Given the description of an element on the screen output the (x, y) to click on. 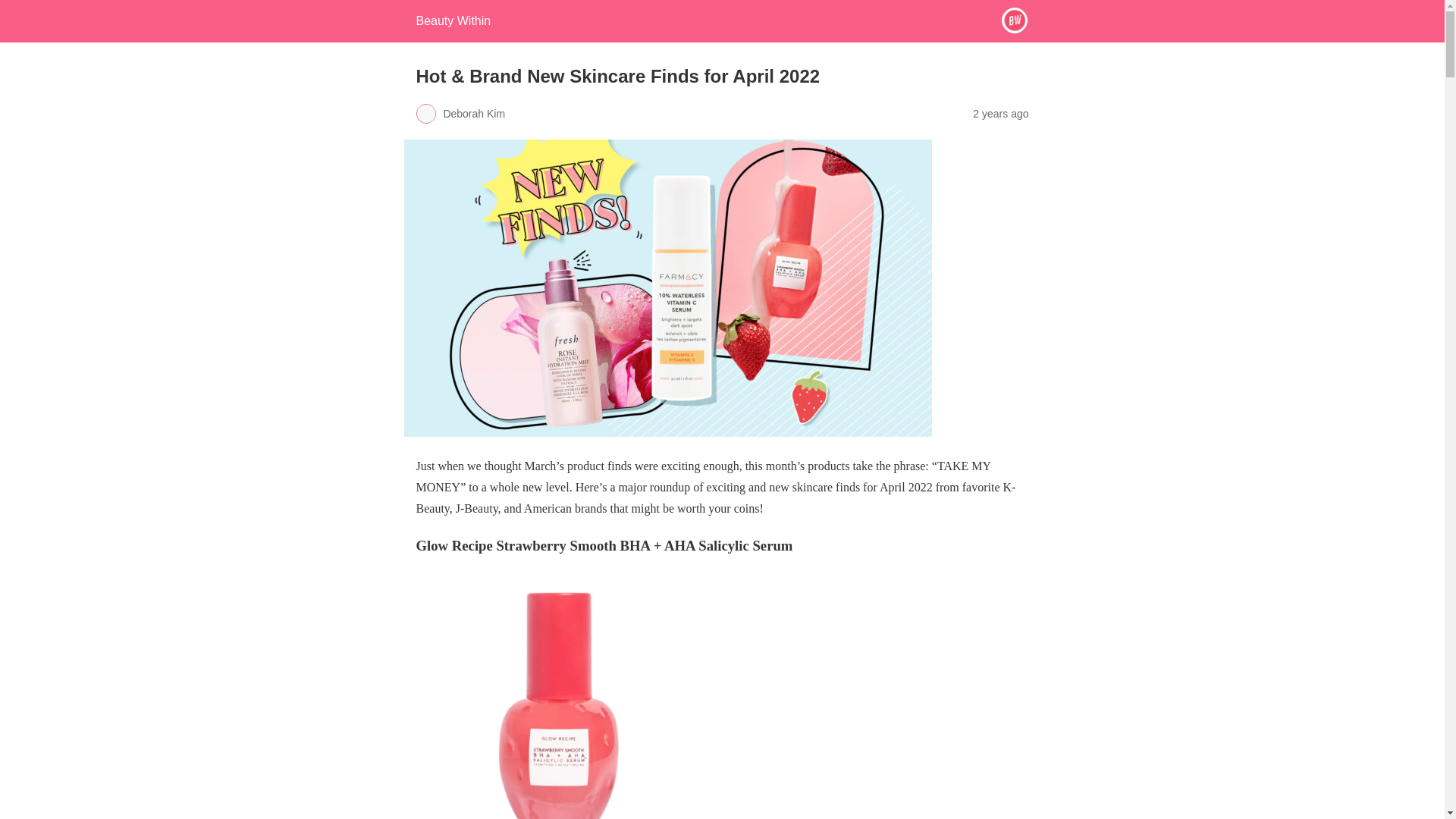
Beauty Within (452, 20)
